Given the description of an element on the screen output the (x, y) to click on. 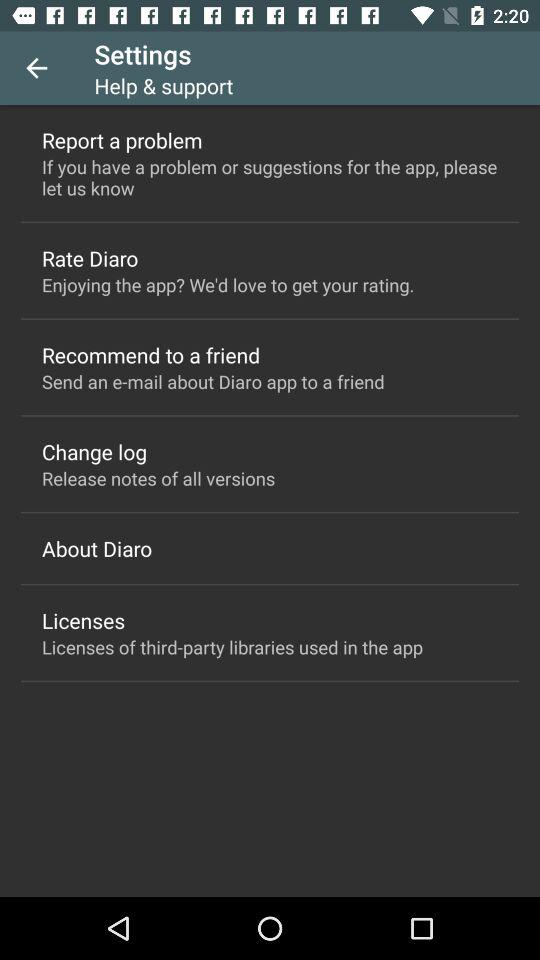
select item above rate diaro (269, 177)
